Given the description of an element on the screen output the (x, y) to click on. 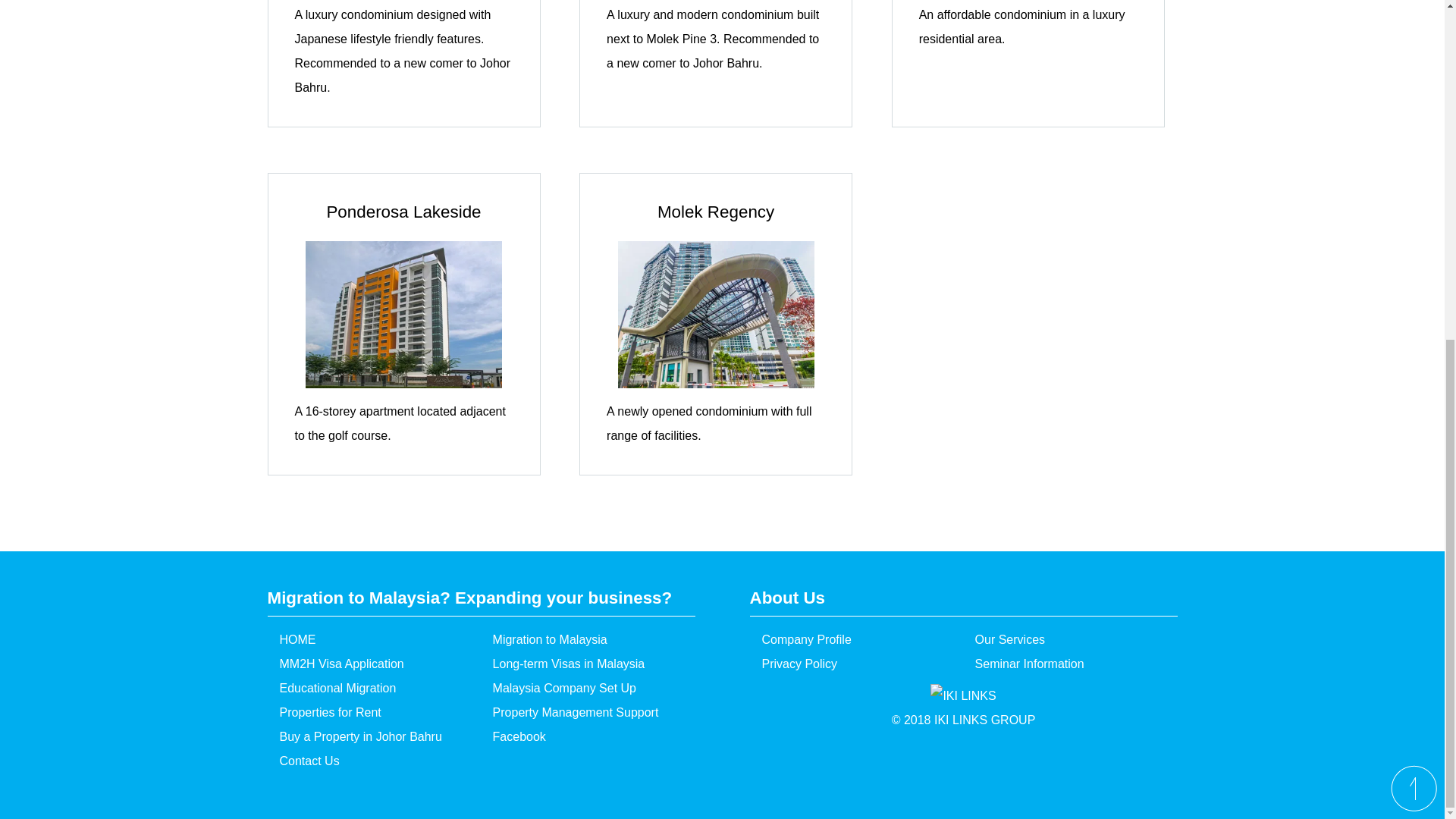
Malaysia Company Set Up (583, 688)
Buy a Property in Johor Bahru (369, 736)
Lifestyle consulting in Malaysia (369, 639)
Educational Migration (369, 688)
Property Management Support (583, 712)
Contact Us (369, 761)
Long-term Visas in Malaysia (583, 663)
Migration to Malaysia (583, 639)
Educational Migration (369, 688)
Properties for Rent (369, 712)
Migration to Malaysia (583, 639)
MM2H Visa Application (369, 663)
Facebook (583, 736)
